Given the description of an element on the screen output the (x, y) to click on. 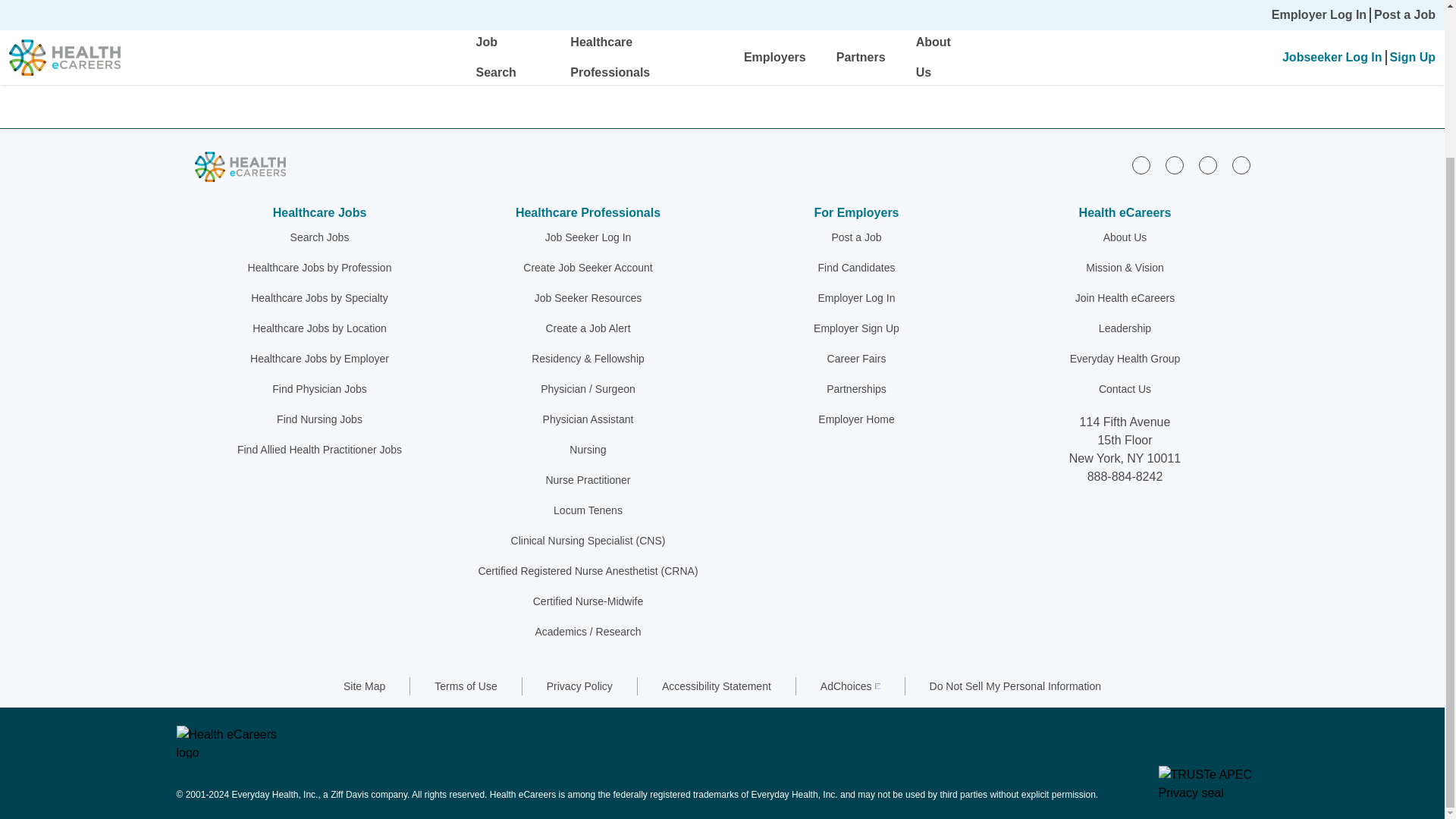
facebook (1173, 165)
youtube (1240, 165)
linkedin (1140, 165)
twitter (1206, 165)
